Given the description of an element on the screen output the (x, y) to click on. 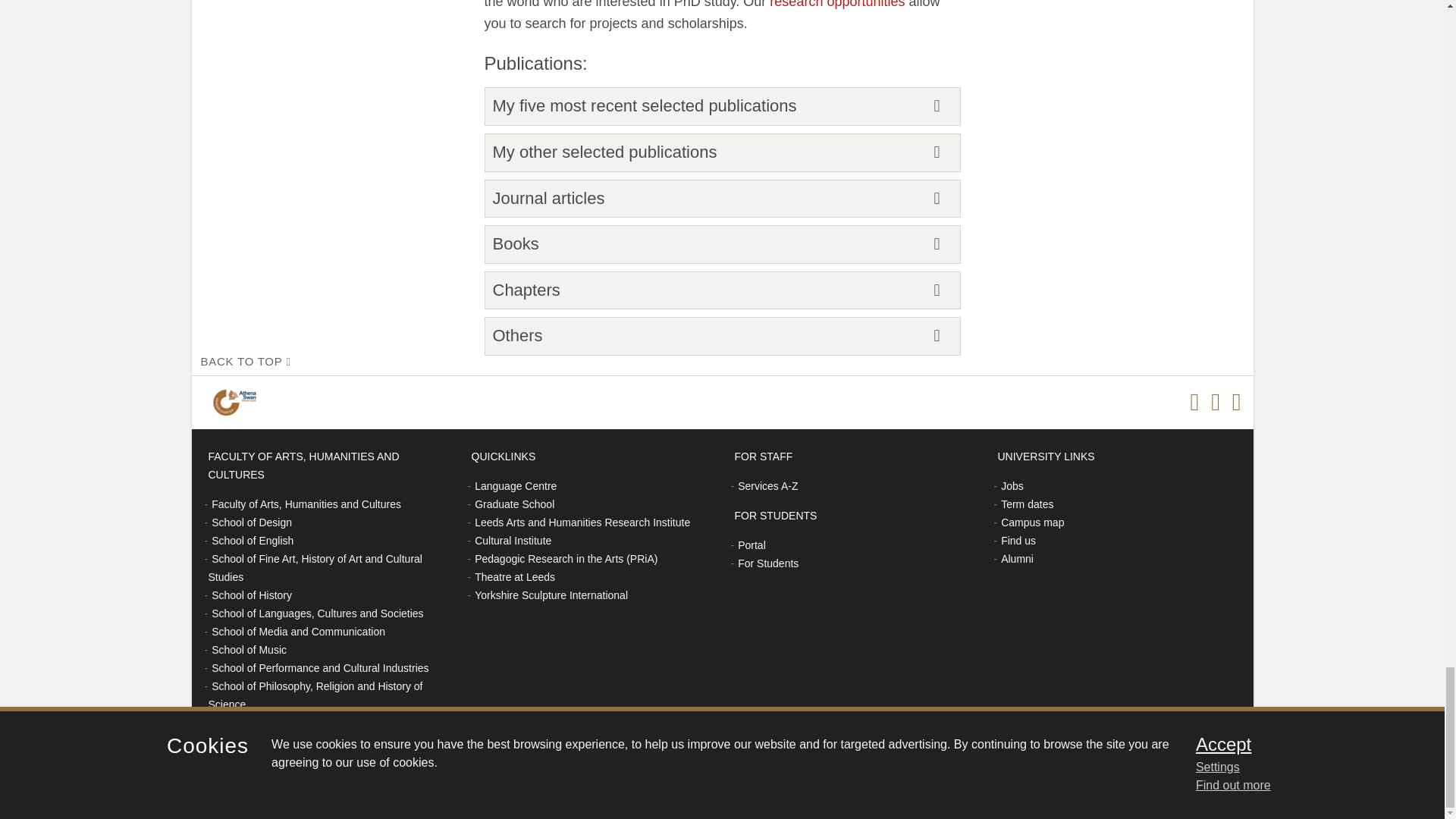
Visit Athena Swan Bronze (236, 402)
